Given the description of an element on the screen output the (x, y) to click on. 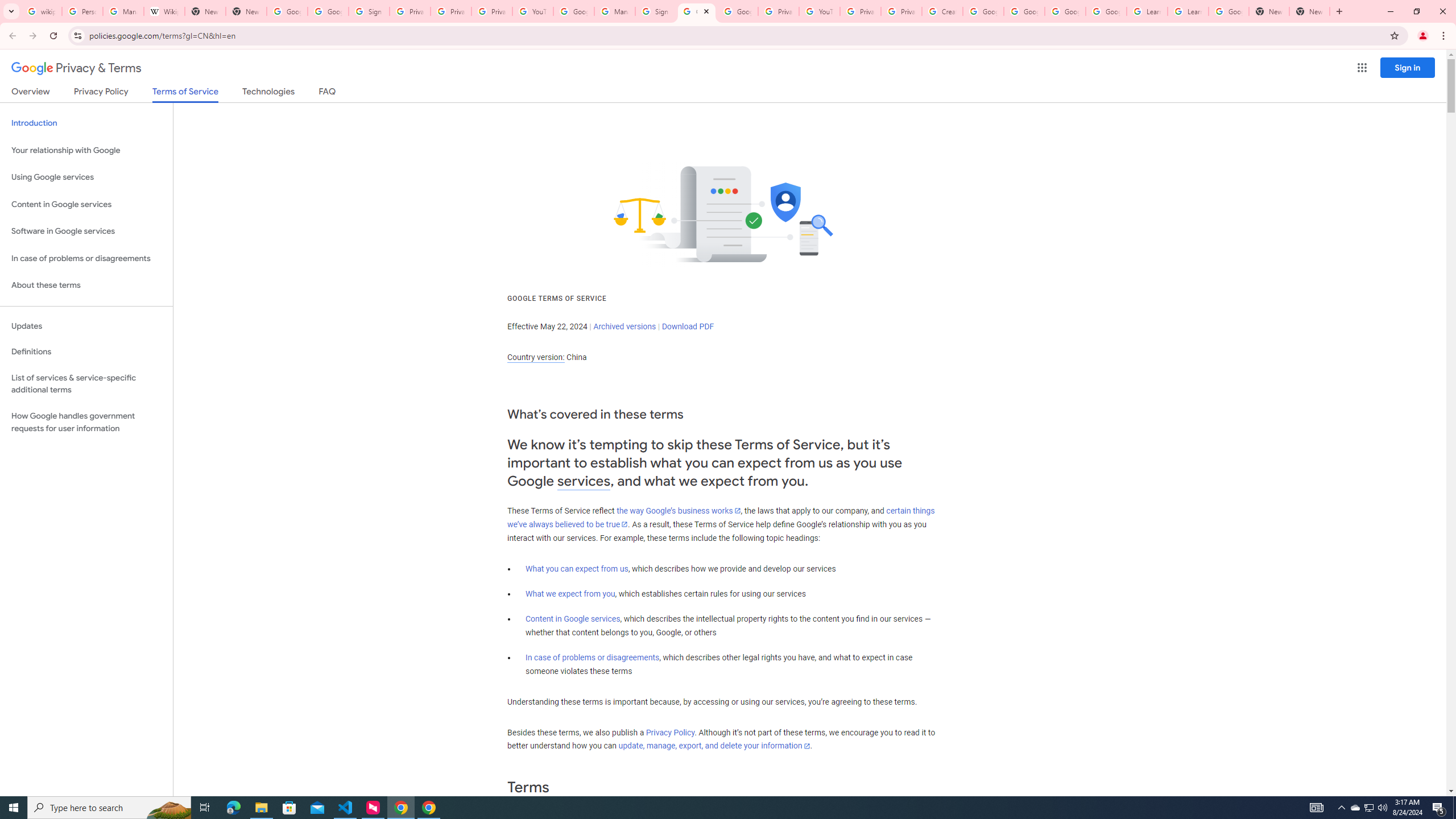
Terms of Service (184, 94)
Google apps (1362, 67)
Your relationship with Google (86, 150)
About these terms (86, 284)
update, manage, export, and delete your information (714, 746)
Wikipedia:Edit requests - Wikipedia (163, 11)
Sign in - Google Accounts (655, 11)
Create your Google Account (942, 11)
Privacy & Terms (76, 68)
